Given the description of an element on the screen output the (x, y) to click on. 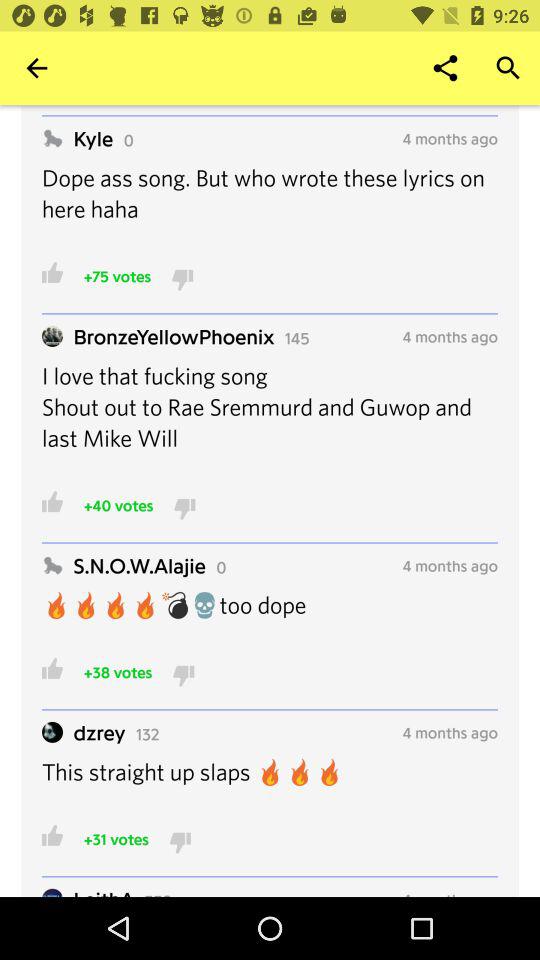
jump until the dope ass song item (270, 206)
